Given the description of an element on the screen output the (x, y) to click on. 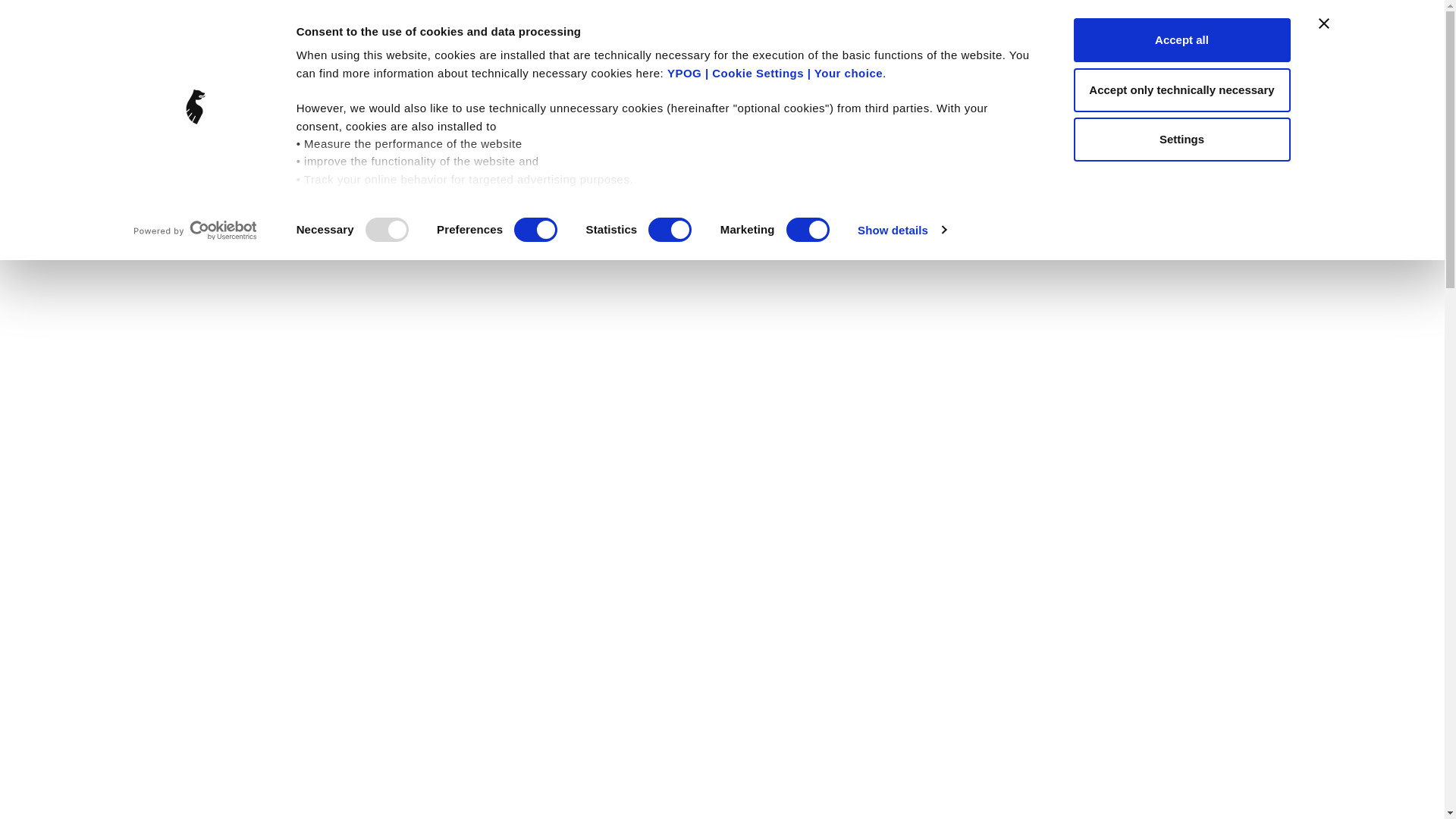
cookie (464, 285)
Show details (900, 229)
German (1130, 42)
privacy policy (604, 320)
Expertise (730, 73)
